Given the description of an element on the screen output the (x, y) to click on. 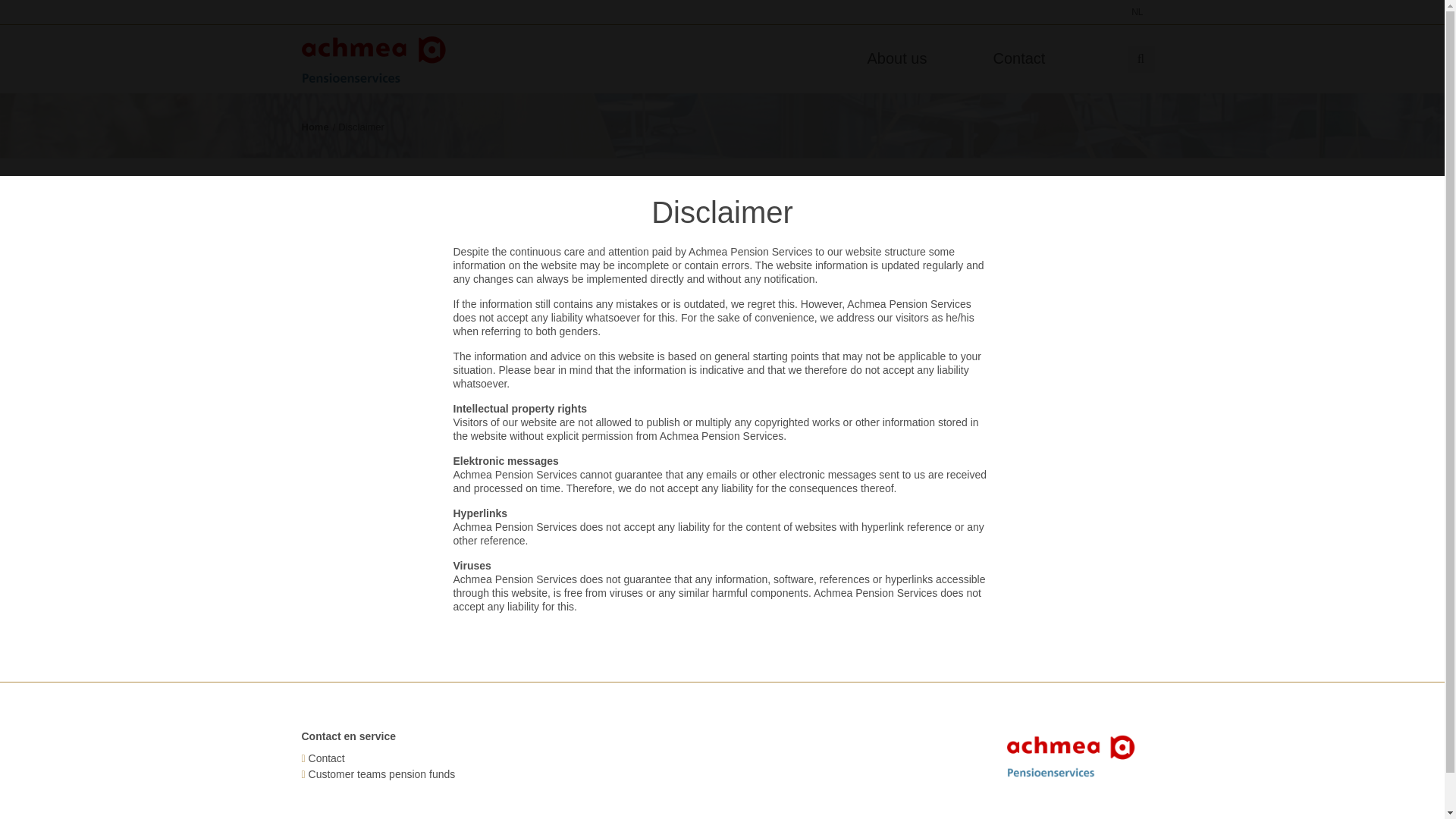
Contact (1047, 58)
Customer teams pension funds (381, 774)
Home (315, 126)
Contact (326, 758)
logo Achmea Pensioenservices (378, 59)
About us (921, 58)
